Given the description of an element on the screen output the (x, y) to click on. 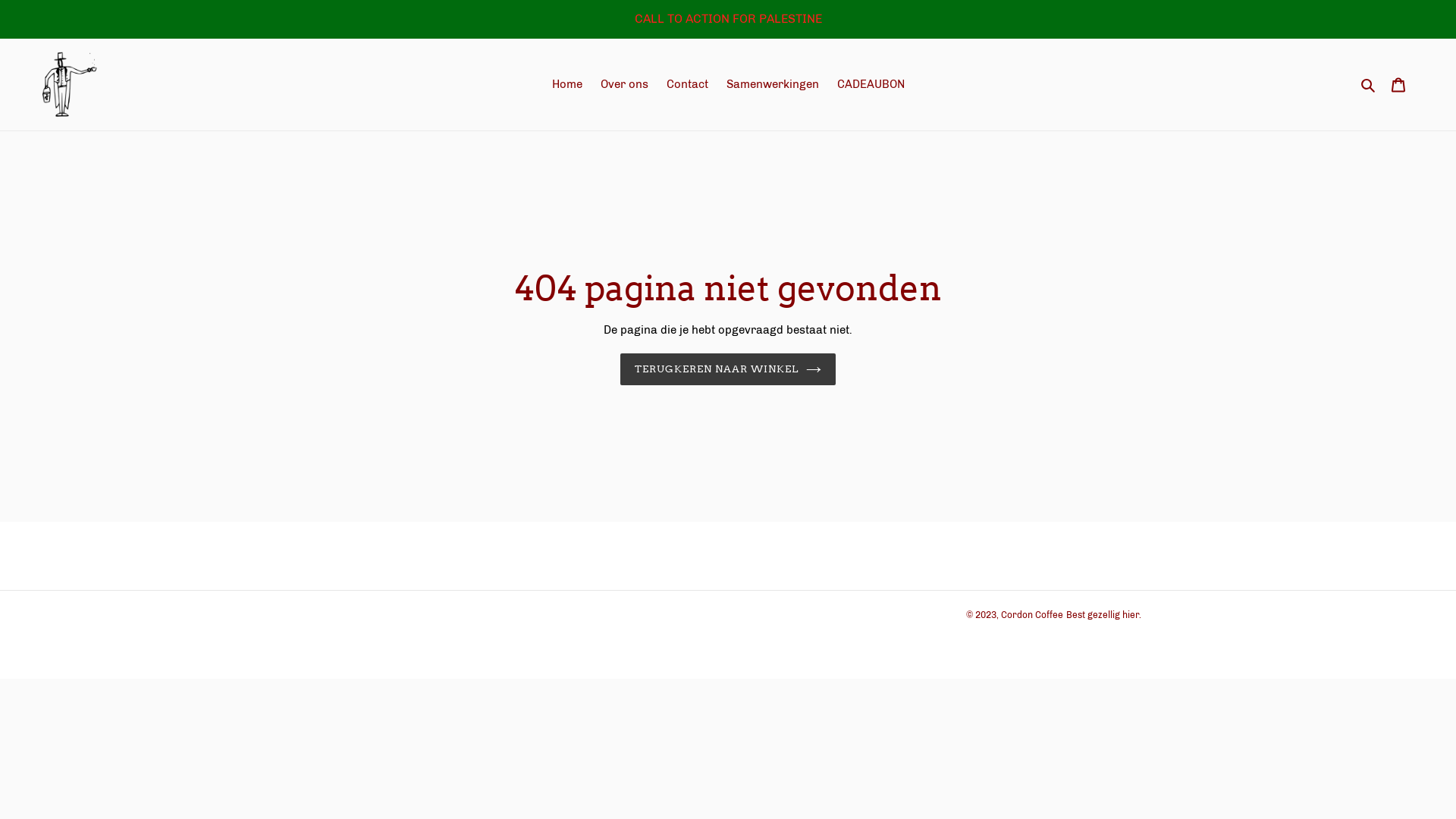
Home Element type: text (566, 84)
Contact Element type: text (686, 84)
Zoeken Element type: text (1368, 84)
Over ons Element type: text (624, 84)
CADEAUBON Element type: text (870, 84)
Cordon Coffee Element type: text (1032, 614)
TERUGKEREN NAAR WINKEL Element type: text (728, 369)
Samenwerkingen Element type: text (772, 84)
Winkelwagen Element type: text (1398, 84)
